Given the description of an element on the screen output the (x, y) to click on. 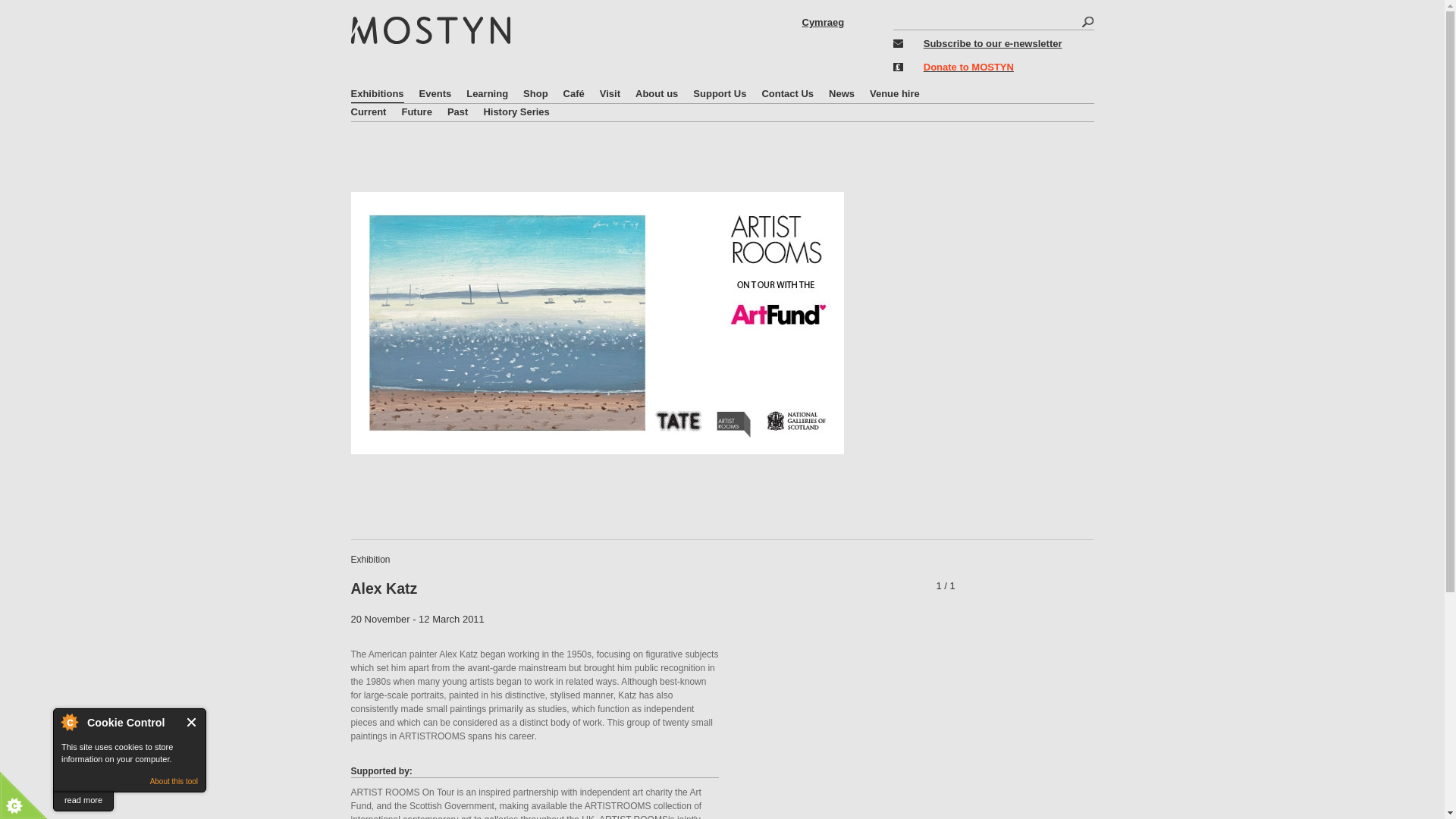
About us (656, 93)
Search (1087, 22)
Visit (609, 93)
read more (82, 801)
Cafe at MOSTYN (574, 93)
Close (191, 722)
Exhibitions (376, 94)
Past (456, 111)
Search (1087, 22)
Contact Mostyn (787, 93)
About Cookie Control (68, 721)
Venue hire (894, 93)
Subscribe to our e-newsletter (992, 43)
Events (435, 93)
History Series (515, 111)
